Given the description of an element on the screen output the (x, y) to click on. 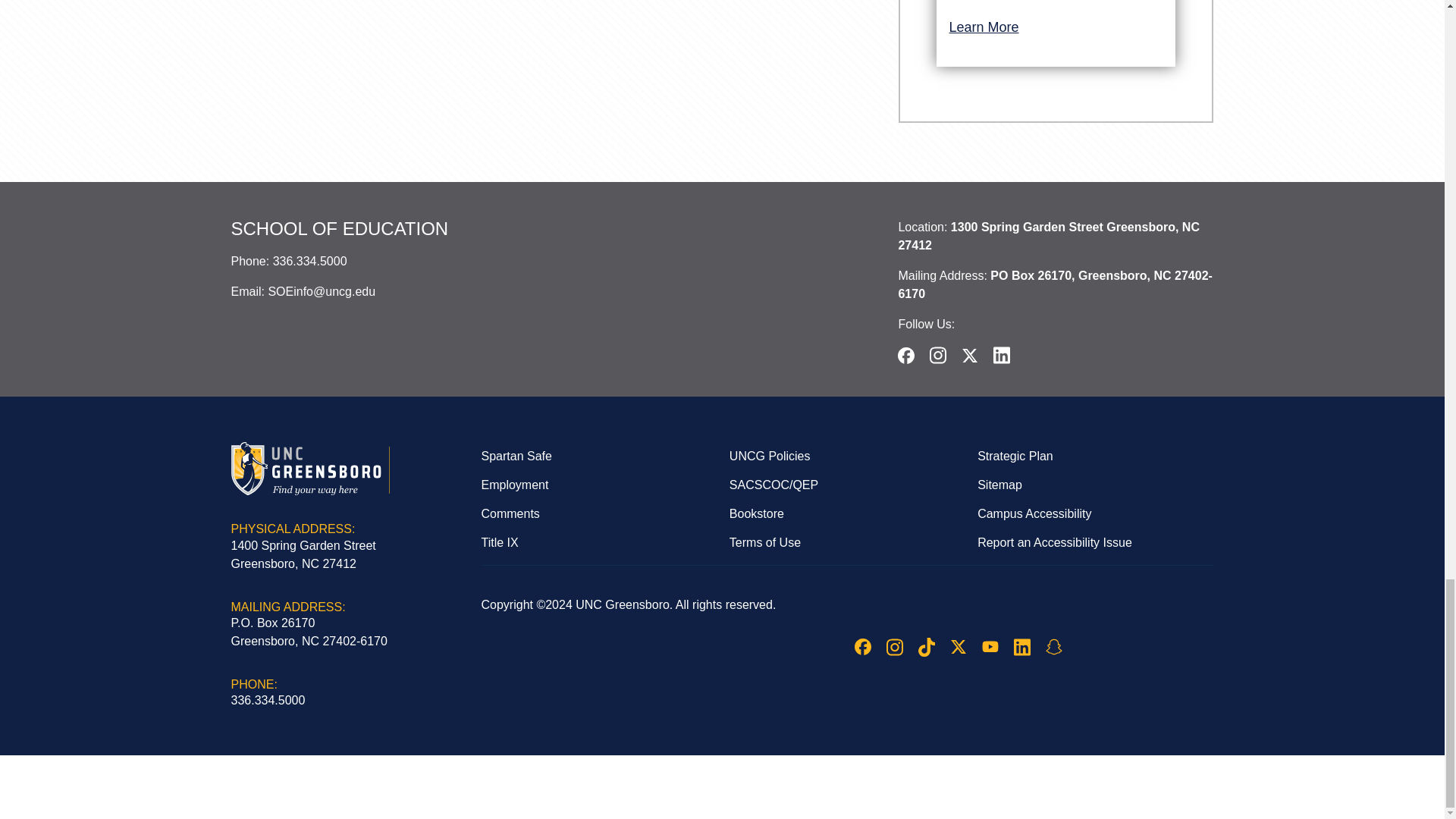
Facebook icon (861, 646)
Facebook icon (906, 355)
Snapchat icon (1053, 646)
X Twitter icon (957, 646)
X Twitter icon (969, 355)
YouTube icon (989, 646)
